Given the description of an element on the screen output the (x, y) to click on. 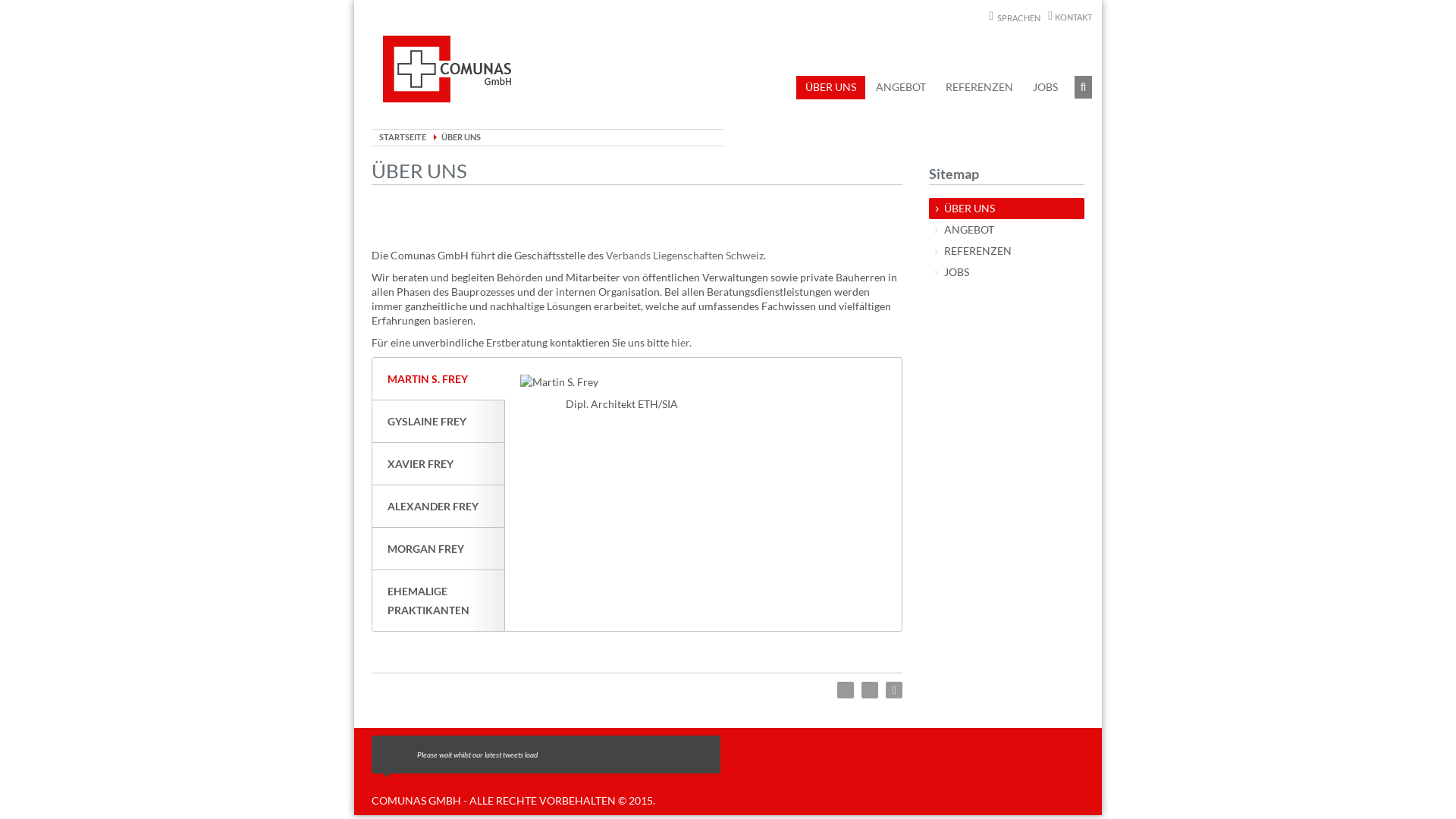
STARTSEITE Element type: text (402, 136)
REFERENZEN Element type: text (979, 86)
ANGEBOT Element type: text (1006, 229)
SPRACHEN Element type: text (1014, 17)
MARTIN S. FREY Element type: text (438, 378)
ANGEBOT Element type: text (900, 86)
JOBS Element type: text (1044, 86)
E-Mail Element type: hover (869, 689)
EHEMALIGE PRAKTIKANTEN Element type: text (438, 600)
REFERENZEN Element type: text (1006, 250)
Verbands Liegenschaften Schweiz Element type: text (684, 254)
Speichern Element type: hover (893, 689)
XAVIER FREY Element type: text (438, 463)
GYSLAINE FREY Element type: text (438, 421)
MORGAN FREY Element type: text (438, 548)
hier Element type: text (680, 341)
ALEXANDER FREY Element type: text (438, 506)
KONTAKT Element type: text (1070, 15)
JOBS Element type: text (1006, 271)
Drucken Element type: hover (845, 689)
Comunas Home Element type: hover (446, 68)
